Given the description of an element on the screen output the (x, y) to click on. 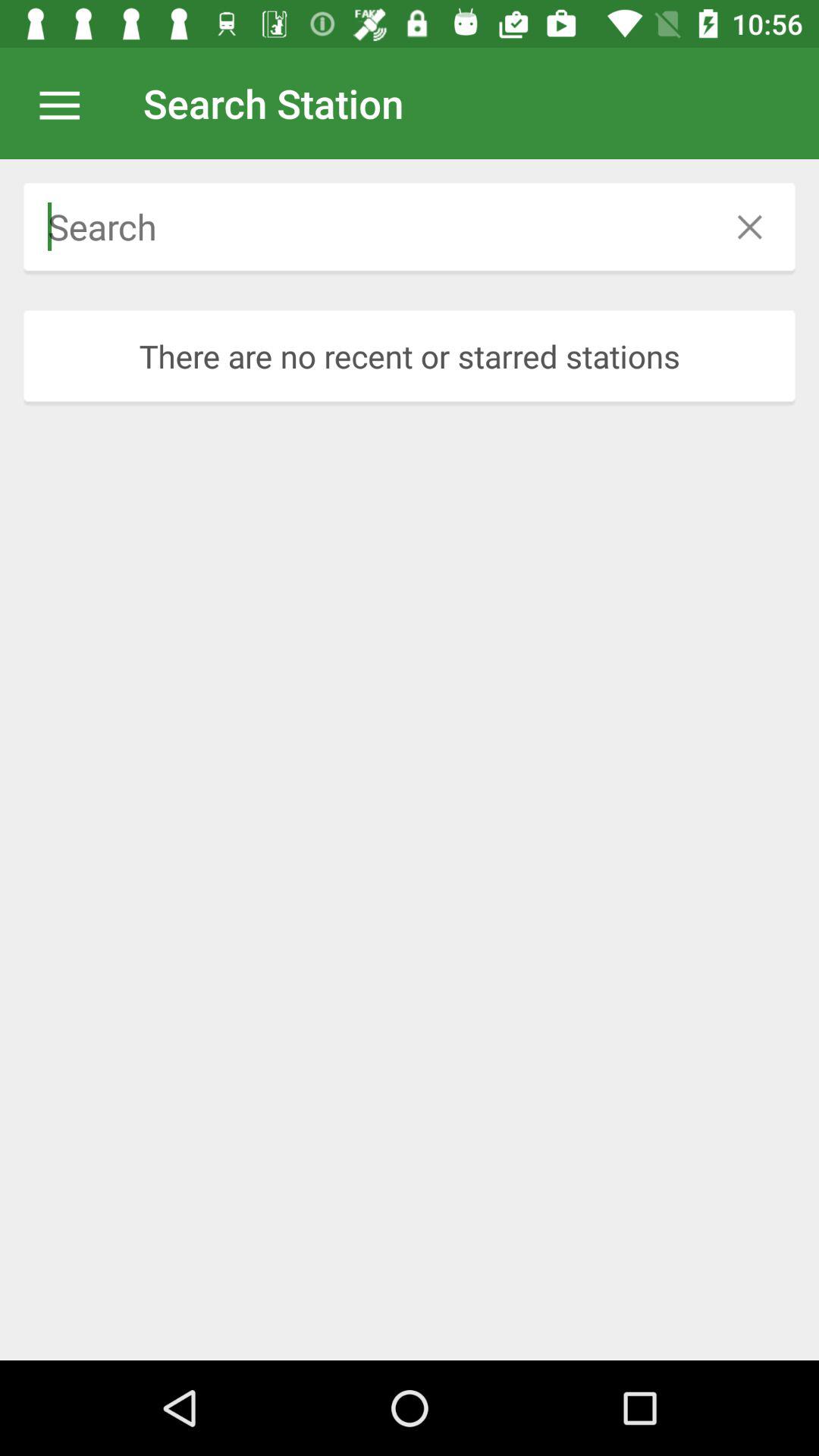
abrir opes (67, 103)
